Given the description of an element on the screen output the (x, y) to click on. 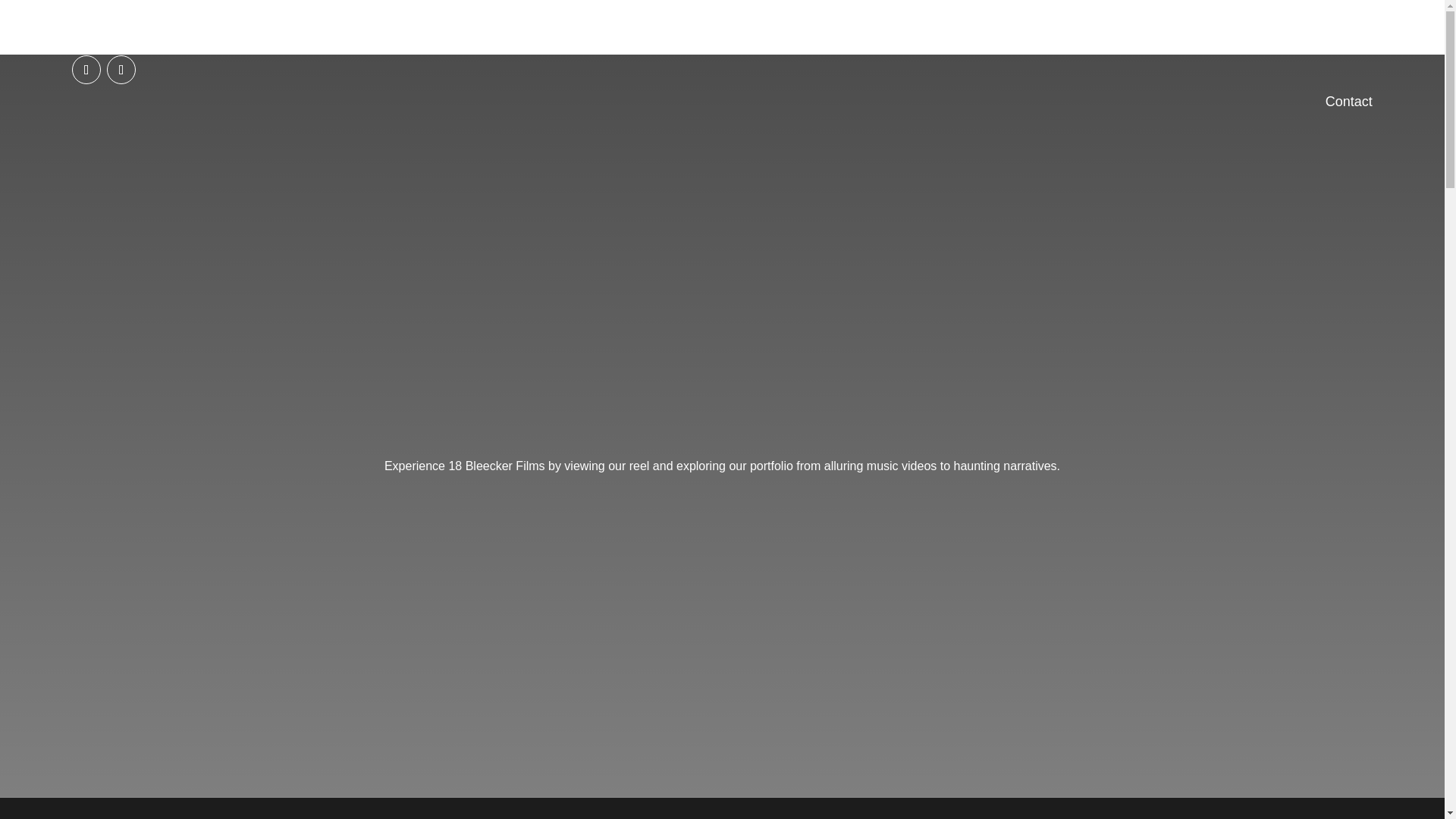
Follow on Instagram (85, 69)
Follow on Youtube (120, 69)
Home (1294, 43)
